Given the description of an element on the screen output the (x, y) to click on. 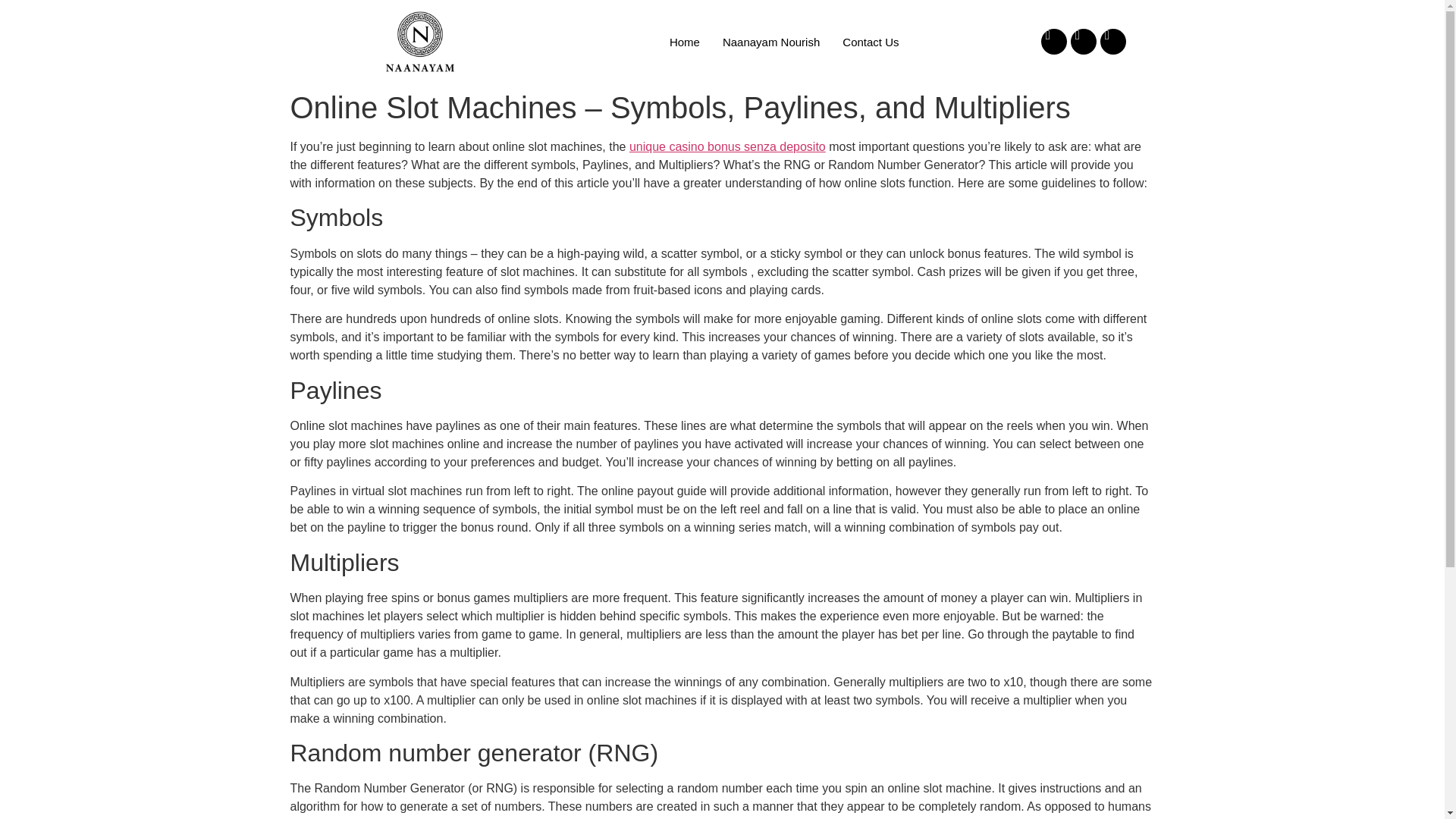
Contact Us (870, 41)
unique casino bonus senza deposito (726, 146)
Home (684, 41)
Naanayam Nourish (771, 41)
